Given the description of an element on the screen output the (x, y) to click on. 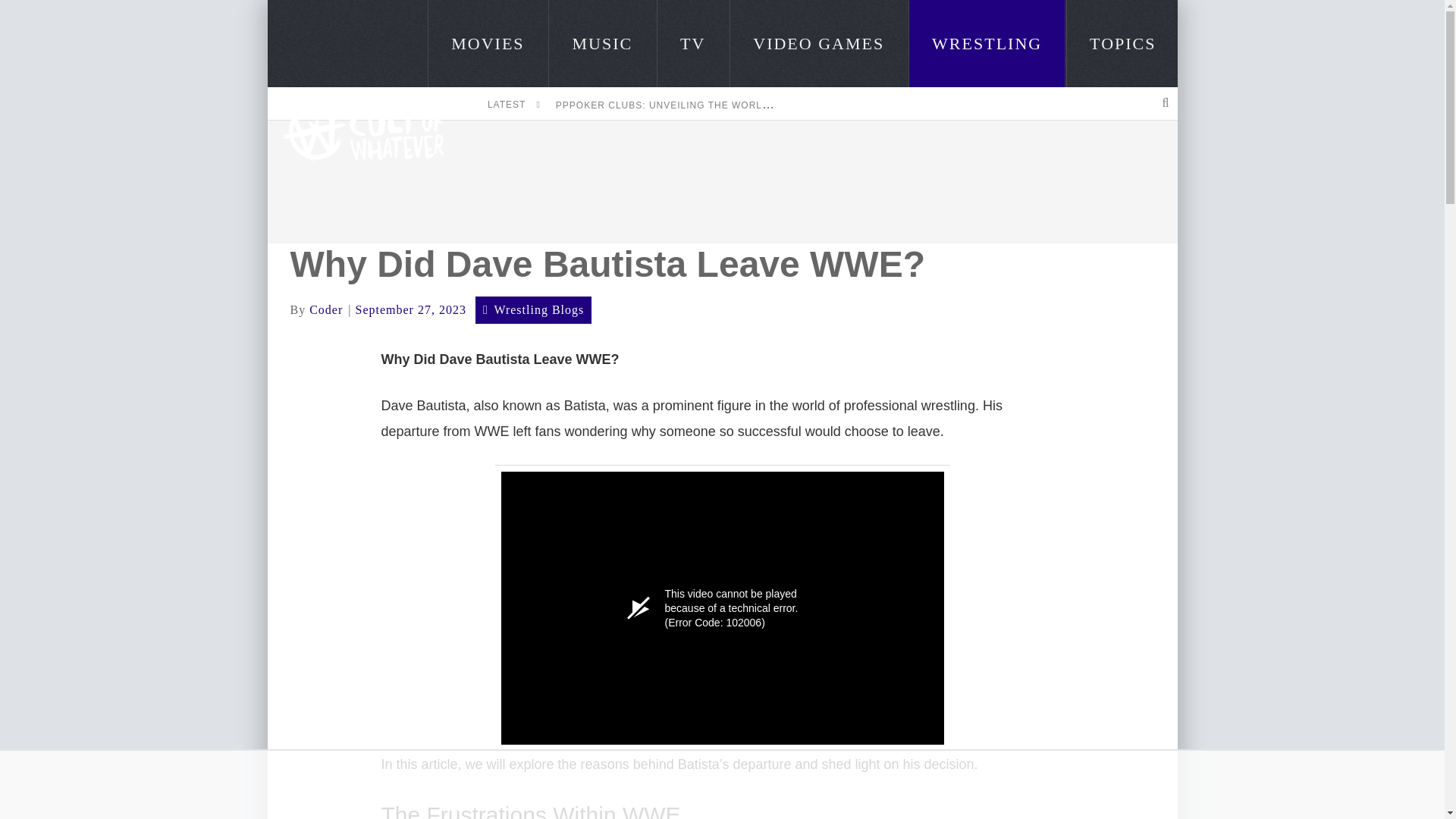
MUSIC (601, 43)
MOVIES (487, 43)
View all posts in Wrestling Blogs (538, 309)
